Given the description of an element on the screen output the (x, y) to click on. 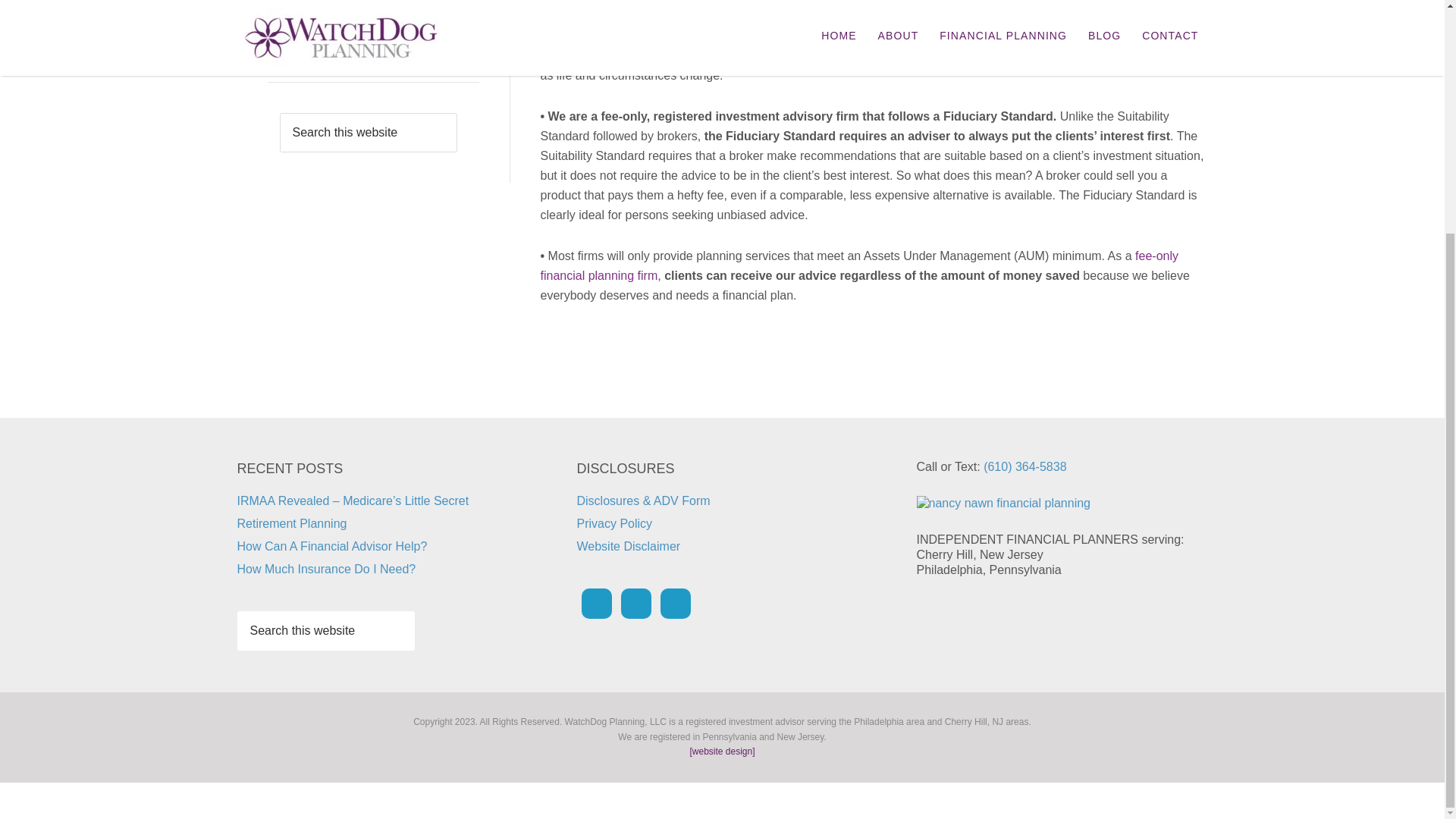
Verified by MonsterInsights (722, 797)
How Much Insurance Do I Need? (389, 63)
Website Disclaimer (627, 545)
Privacy Policy (614, 522)
fee-only financial planning firm (858, 265)
How Can A Financial Advisor Help? (330, 545)
How Can A Financial Advisor Help? (383, 28)
